Given the description of an element on the screen output the (x, y) to click on. 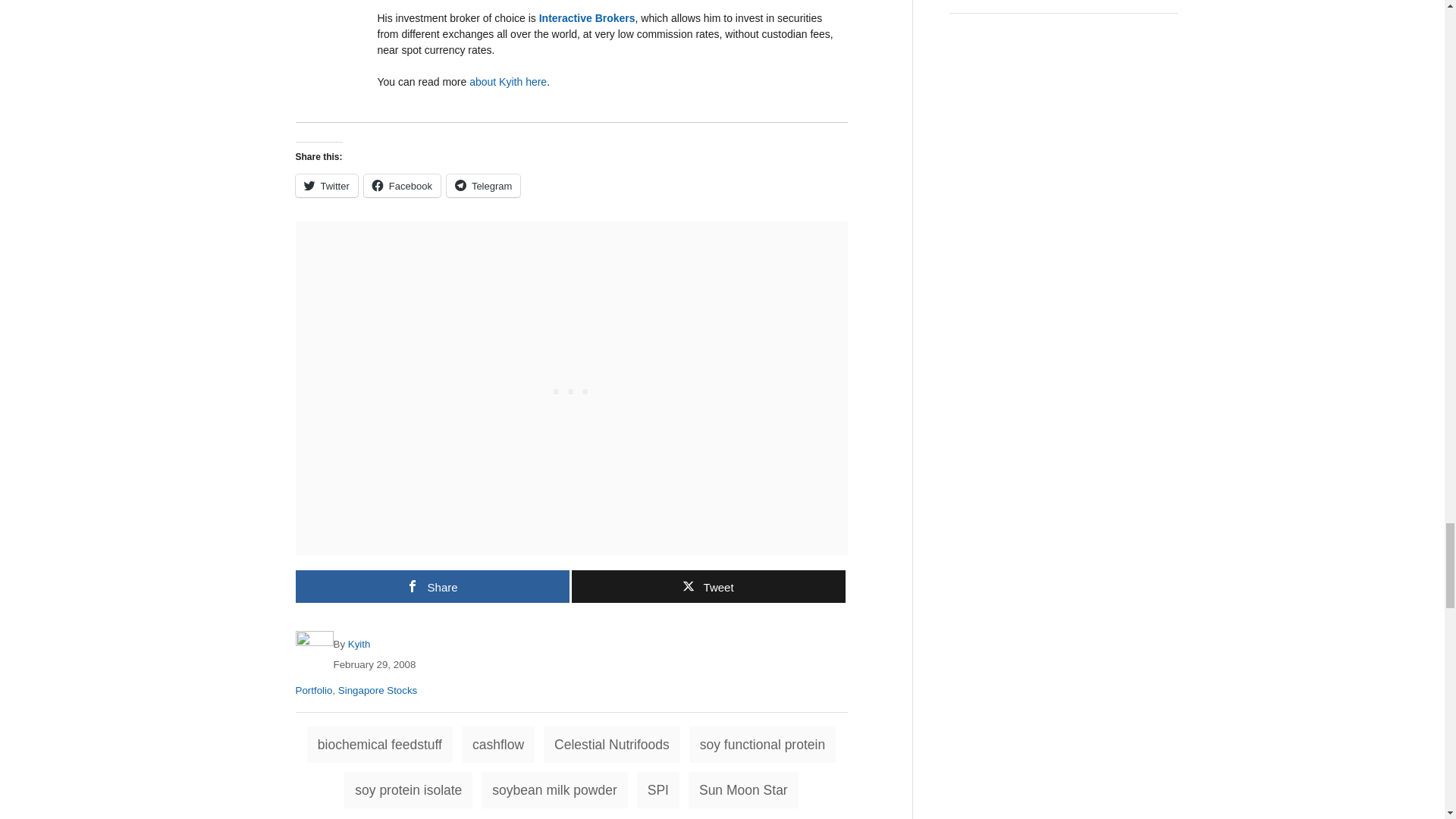
Click to share on Twitter (326, 185)
Click to share on Telegram (482, 185)
Click to share on Facebook (402, 185)
